Given the description of an element on the screen output the (x, y) to click on. 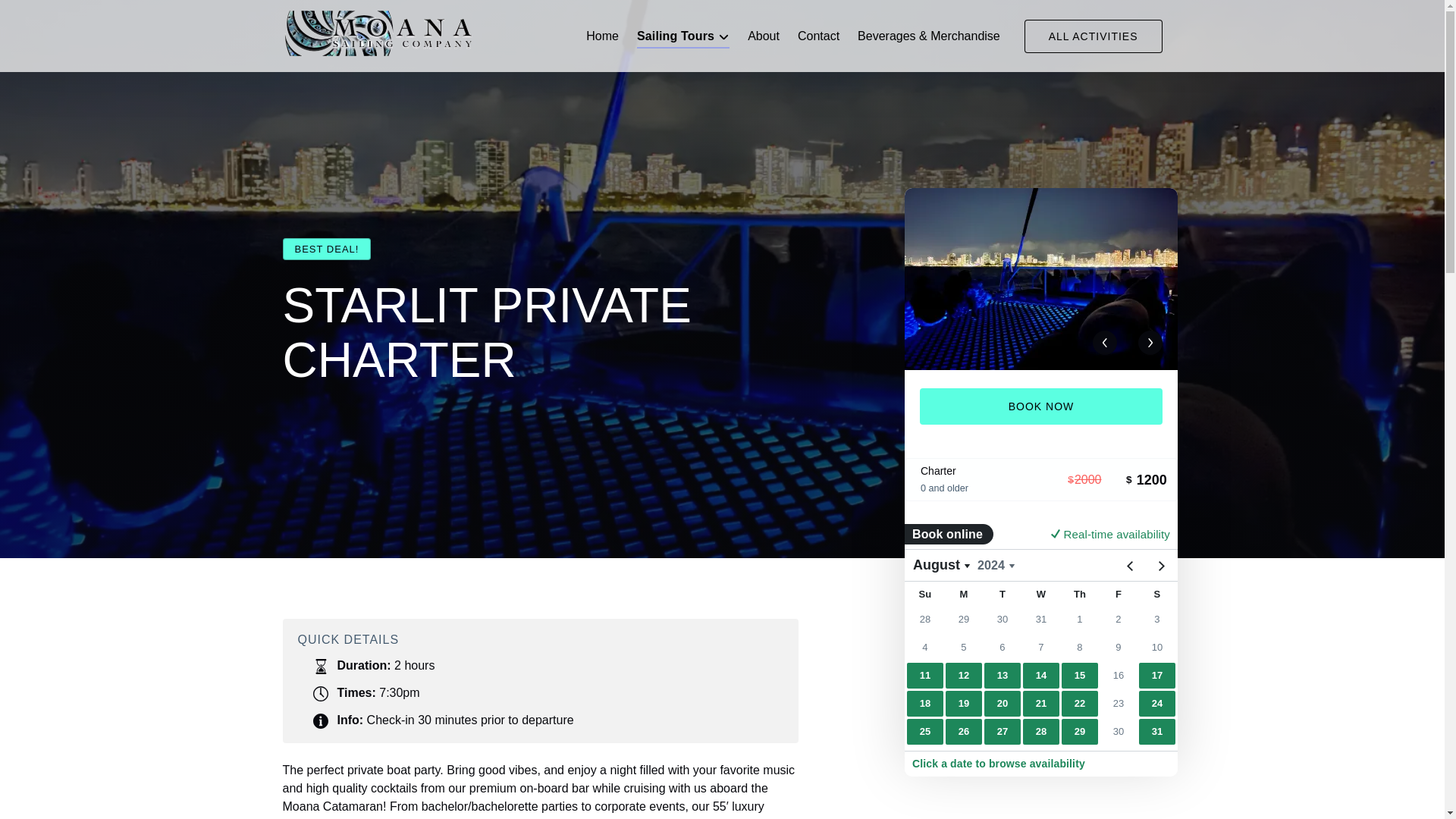
Info (320, 720)
Open Sailing Tours Menu (686, 32)
ALL ACTIVITIES (1093, 36)
Skip to footer (42, 16)
Clock (320, 693)
Next (1149, 342)
About (763, 35)
Skip to content (47, 16)
Skip to primary navigation (77, 16)
Previous (1104, 342)
